Given the description of an element on the screen output the (x, y) to click on. 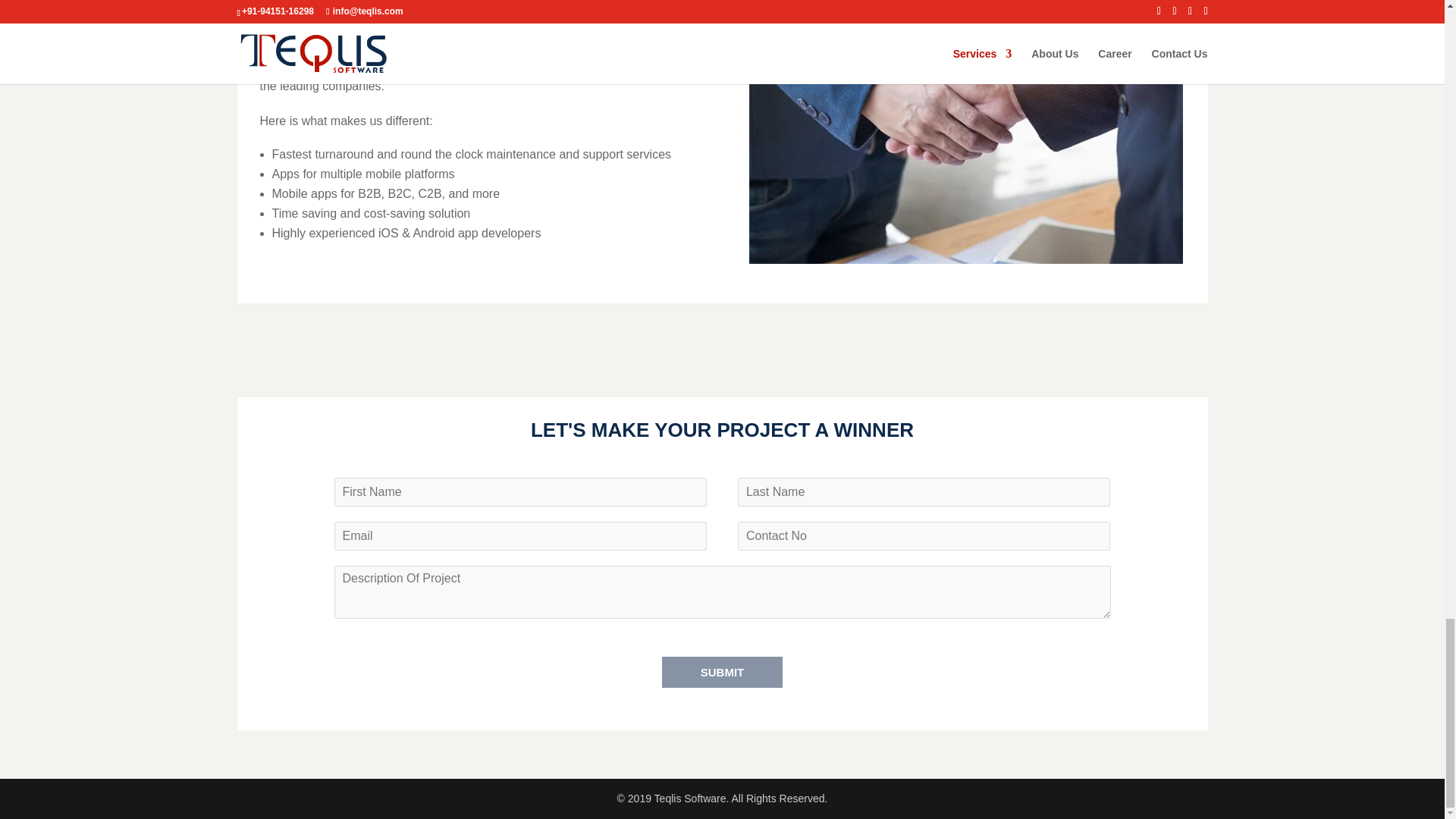
SUBMIT (722, 671)
